Given the description of an element on the screen output the (x, y) to click on. 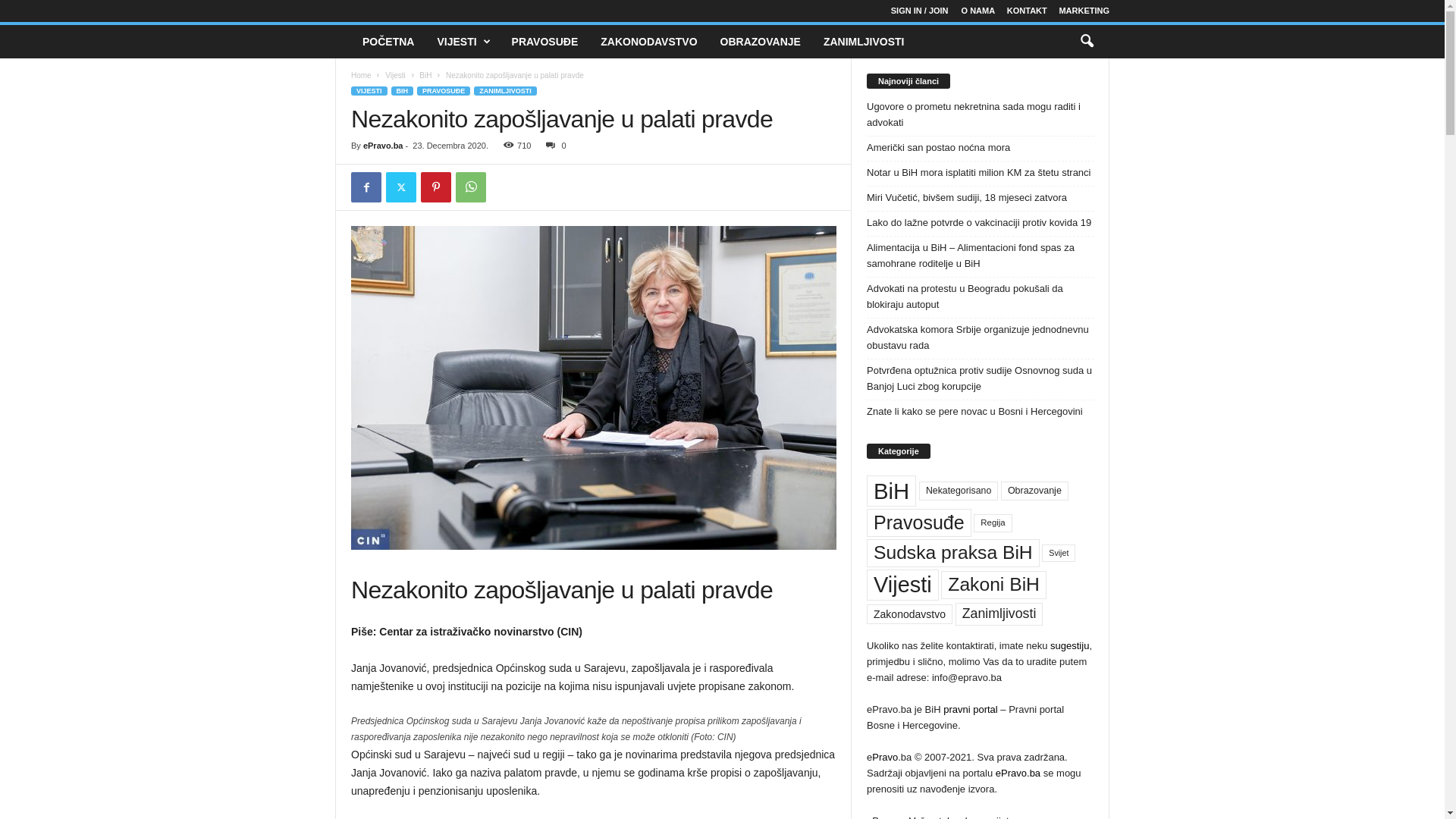
Ugovore o prometu nekretnina sada mogu raditi i advokati Element type: text (980, 114)
BIH Element type: text (402, 90)
Home Element type: text (361, 75)
OBRAZOVANJE Element type: text (760, 41)
O NAMA Element type: text (978, 10)
Zakoni BiH Element type: text (993, 585)
SIGN IN / JOIN Element type: text (919, 10)
Sudska praksa BiH Element type: text (952, 553)
VIJESTI Element type: text (369, 90)
BiH Element type: text (891, 490)
Zanimljivosti Element type: text (999, 613)
BiH Element type: text (425, 75)
0 Element type: text (552, 145)
ZAKONODAVSTVO Element type: text (648, 41)
ePravo.ba Element type: text (383, 145)
Vijesti Element type: text (902, 584)
Vijesti Element type: text (395, 75)
Facebook Element type: hover (366, 187)
Pravo Element type: text (884, 756)
Obrazovanje Element type: text (1034, 490)
ZANIMLJIVOSTI Element type: text (504, 90)
VIJESTI Element type: text (462, 41)
MARKETING Element type: text (1083, 10)
Svijet Element type: text (1058, 552)
ZANIMLJIVOSTI Element type: text (864, 41)
WhatsApp Element type: hover (470, 187)
Zakonodavstvo Element type: text (909, 614)
Twitter Element type: hover (400, 187)
Znate li kako se pere novac u Bosni i Hercegovini Element type: text (980, 411)
pravni portal Element type: text (970, 709)
Pinterest Element type: hover (435, 187)
sugestiju Element type: text (1069, 645)
Nekategorisano Element type: text (958, 490)
ePravo.ba Element type: text (1017, 772)
KONTAKT Element type: text (1027, 10)
Regija Element type: text (992, 522)
